Given the description of an element on the screen output the (x, y) to click on. 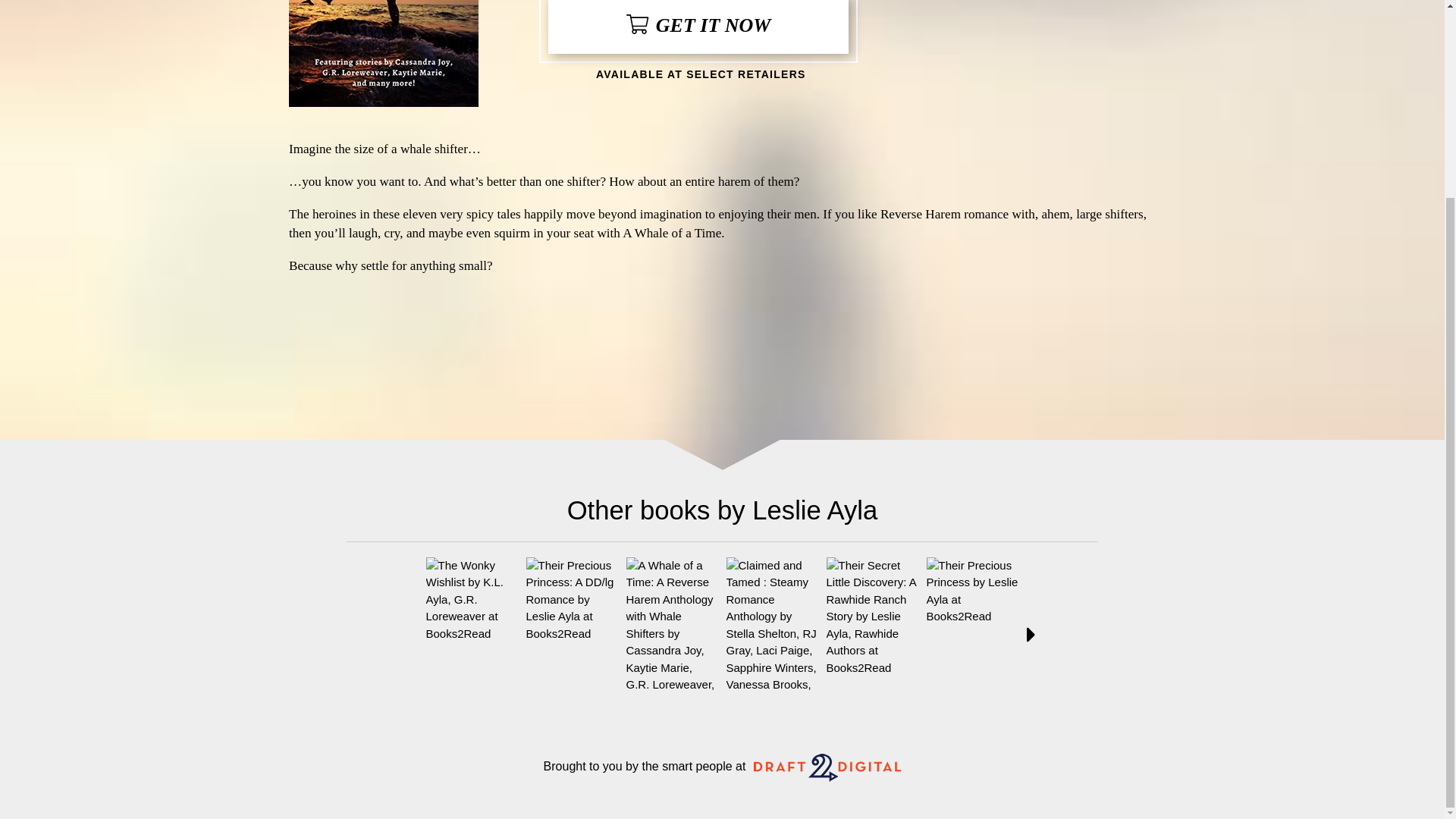
GET IT NOW (698, 27)
